Given the description of an element on the screen output the (x, y) to click on. 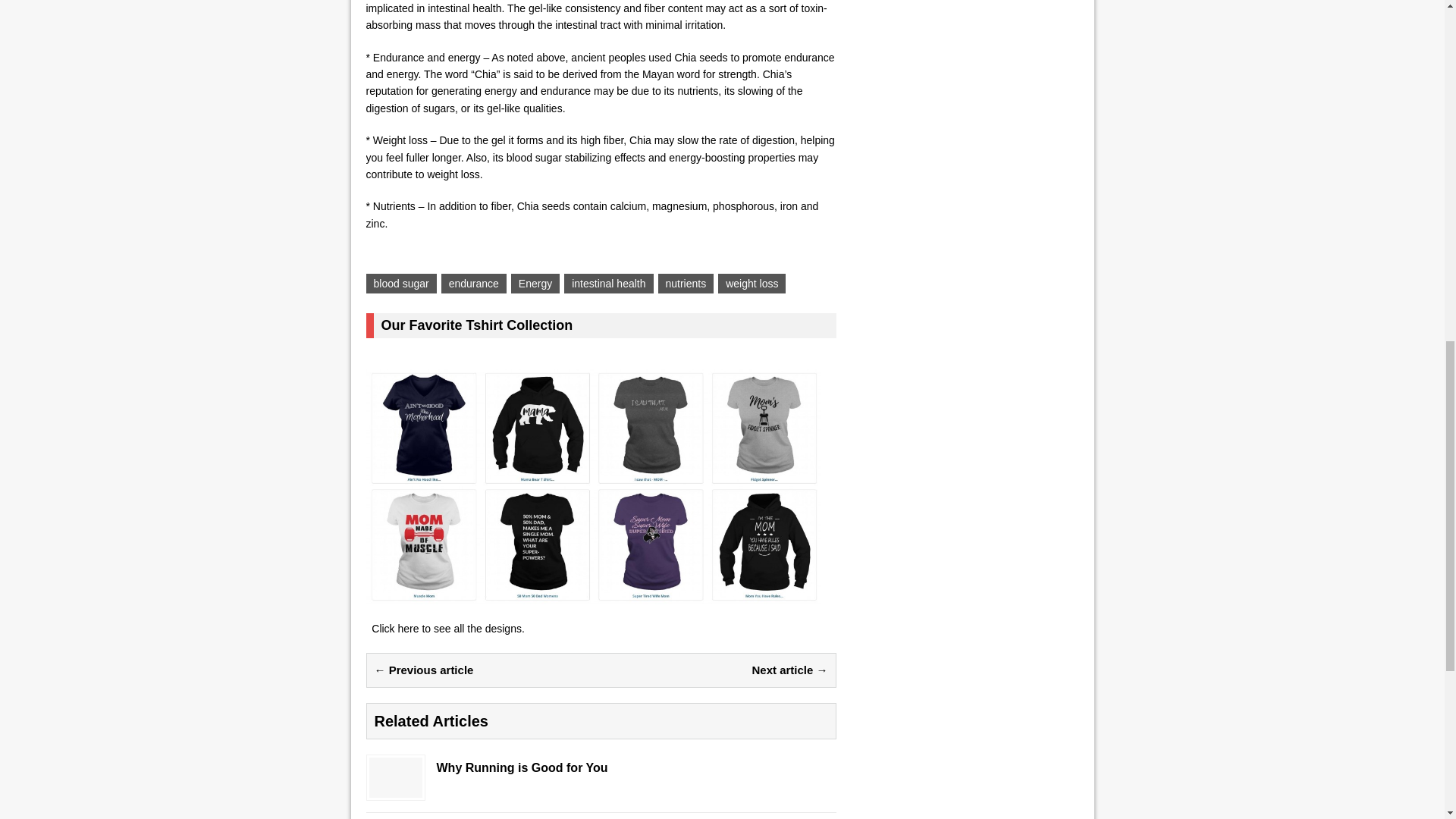
endurance (473, 283)
nutrients (686, 283)
Click here to see all the designs (446, 628)
Energy (535, 283)
Why Running is Good for You (395, 788)
Why Running is Good for You (600, 767)
intestinal health (608, 283)
weight loss (751, 283)
blood sugar (400, 283)
